Given the description of an element on the screen output the (x, y) to click on. 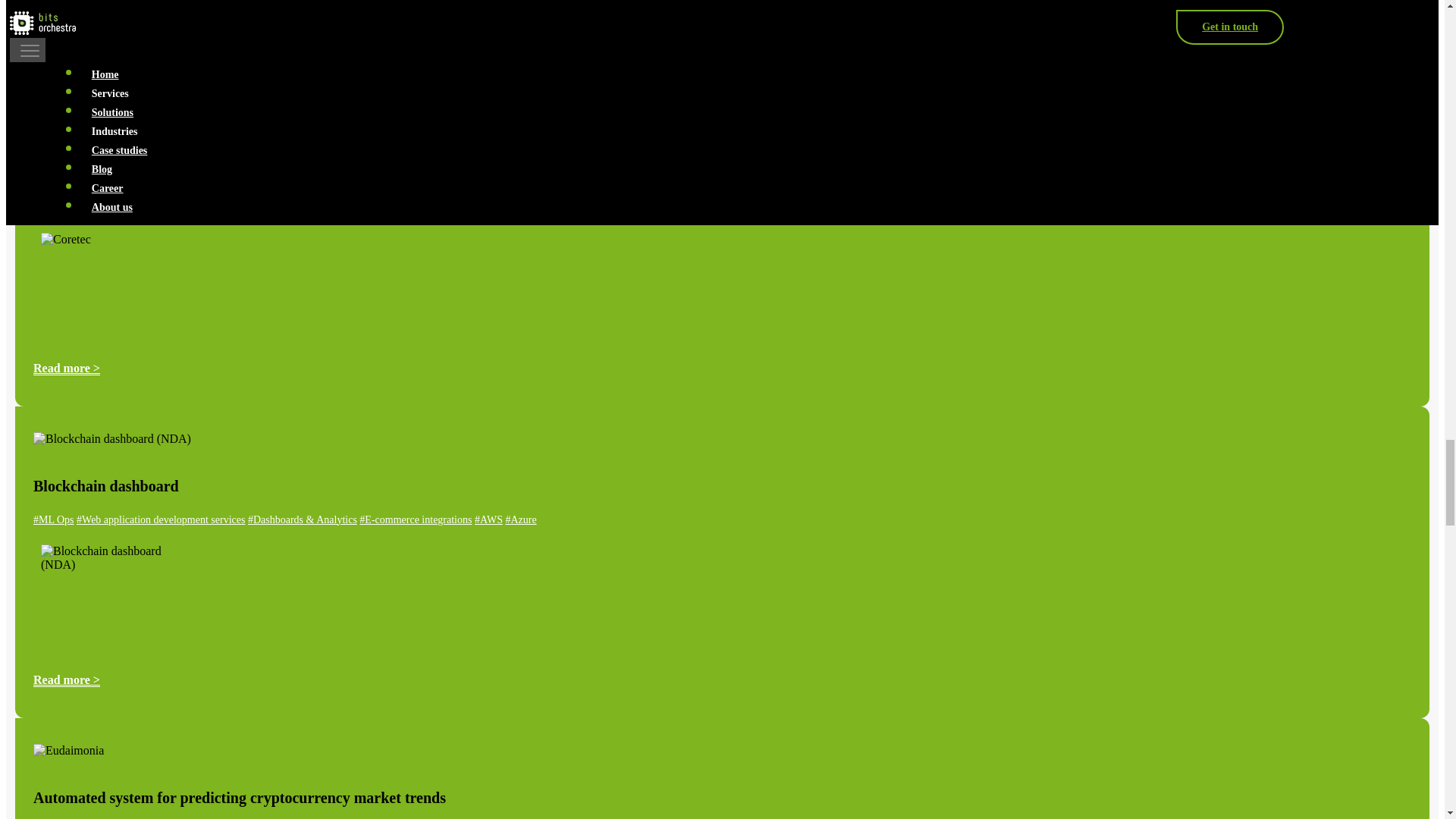
Eudaimonia (68, 750)
Coretec (57, 127)
Flaga energy management platform (106, 17)
Coretec (106, 285)
